Given the description of an element on the screen output the (x, y) to click on. 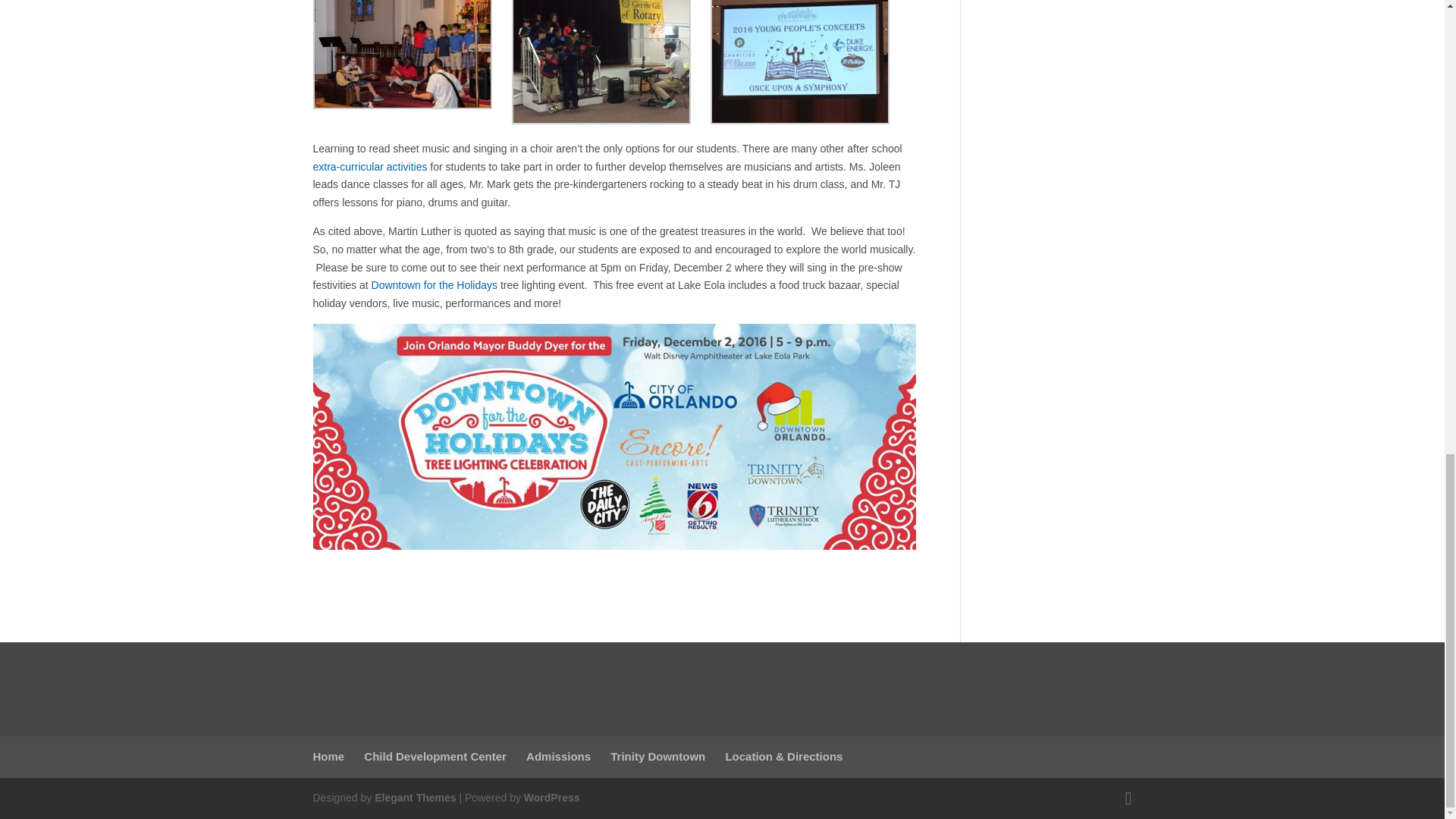
Premium WordPress Themes (414, 797)
